Given the description of an element on the screen output the (x, y) to click on. 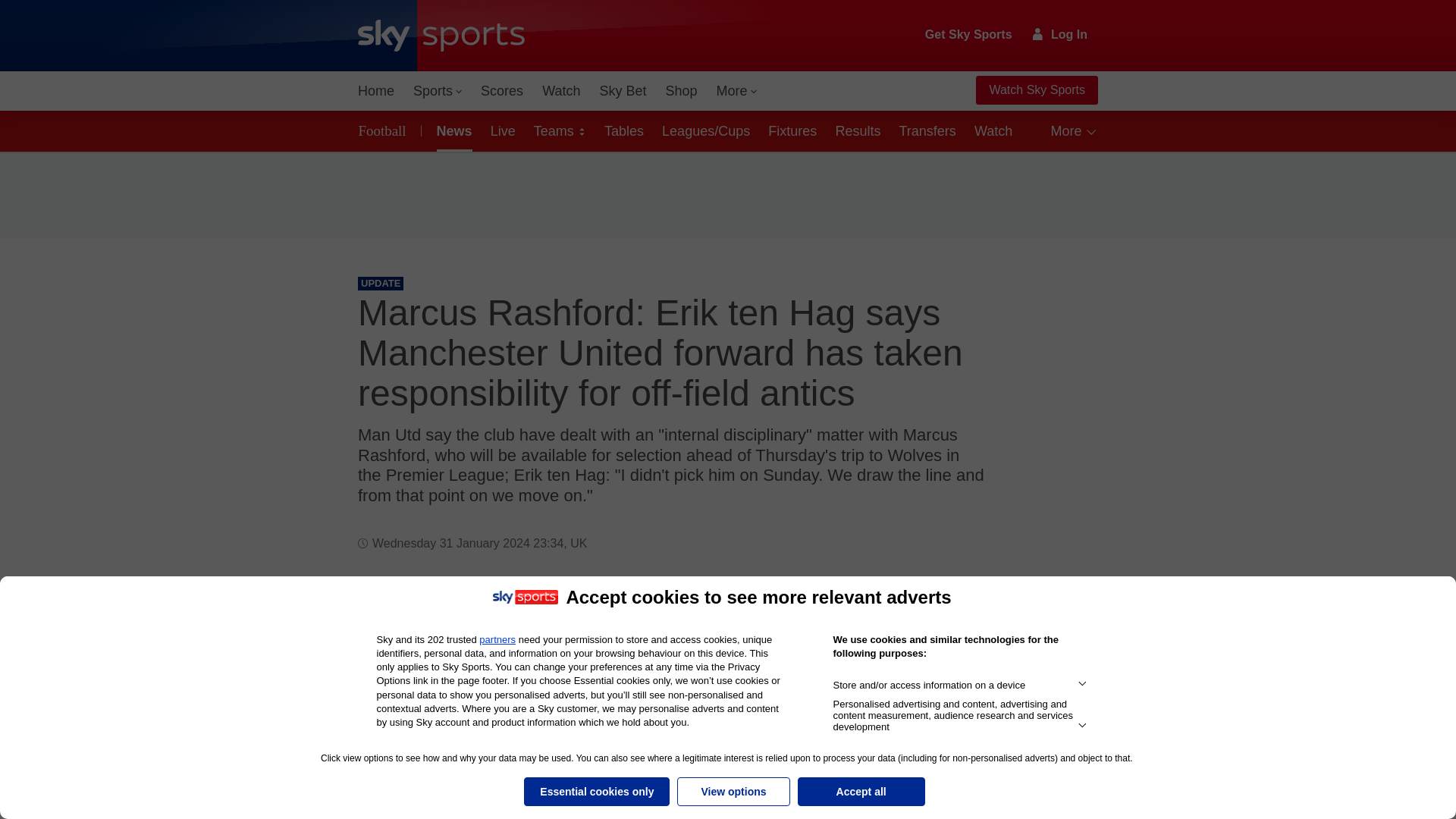
Log In (1060, 33)
Get Sky Sports (968, 34)
Sky Bet (622, 91)
Scores (502, 91)
More (736, 91)
Home (375, 91)
Watch (561, 91)
Football (385, 130)
News (451, 130)
Sports (437, 91)
